Given the description of an element on the screen output the (x, y) to click on. 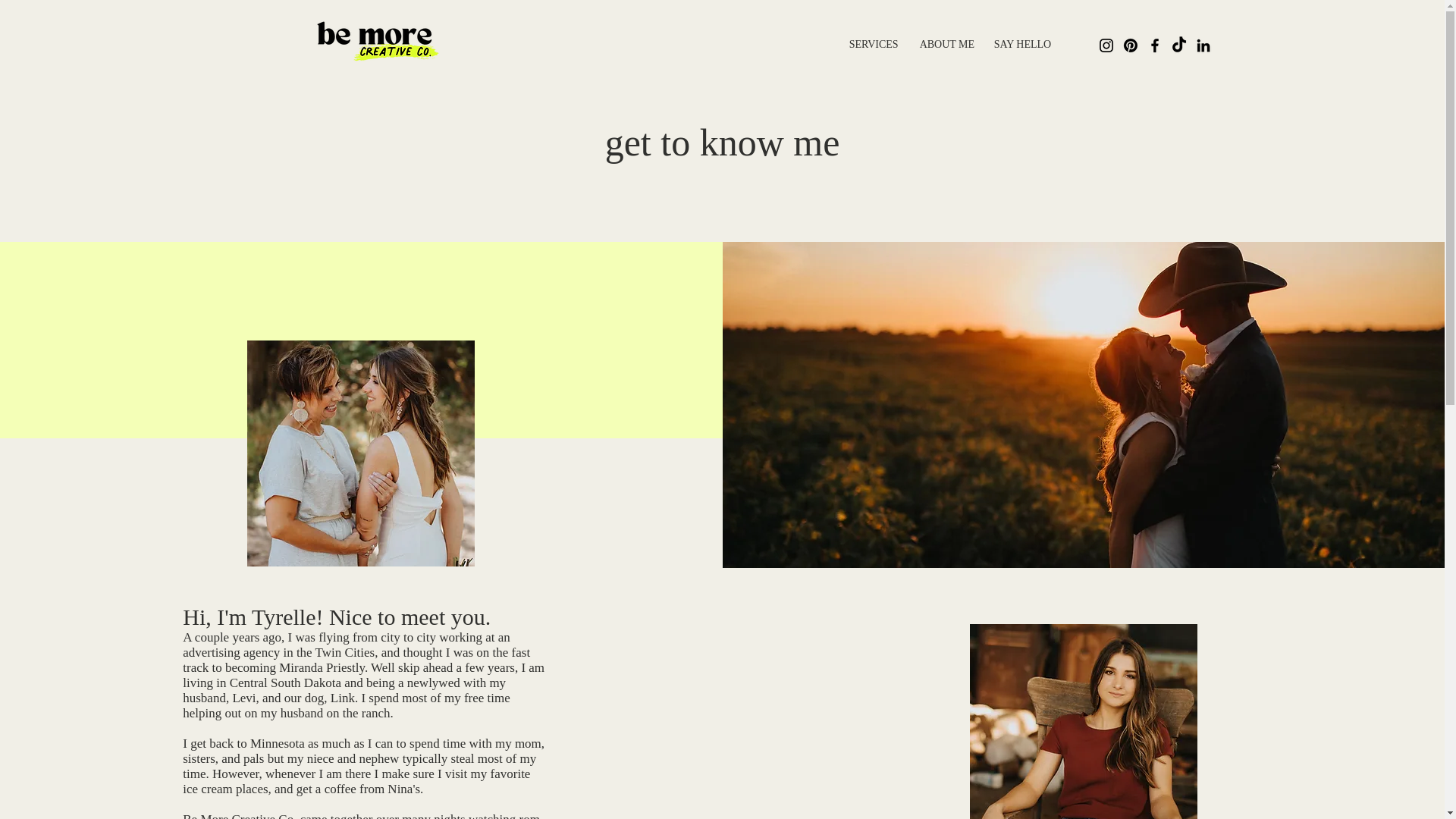
ABOUT ME (945, 44)
SAY HELLO (1020, 44)
SERVICES (873, 44)
